Given the description of an element on the screen output the (x, y) to click on. 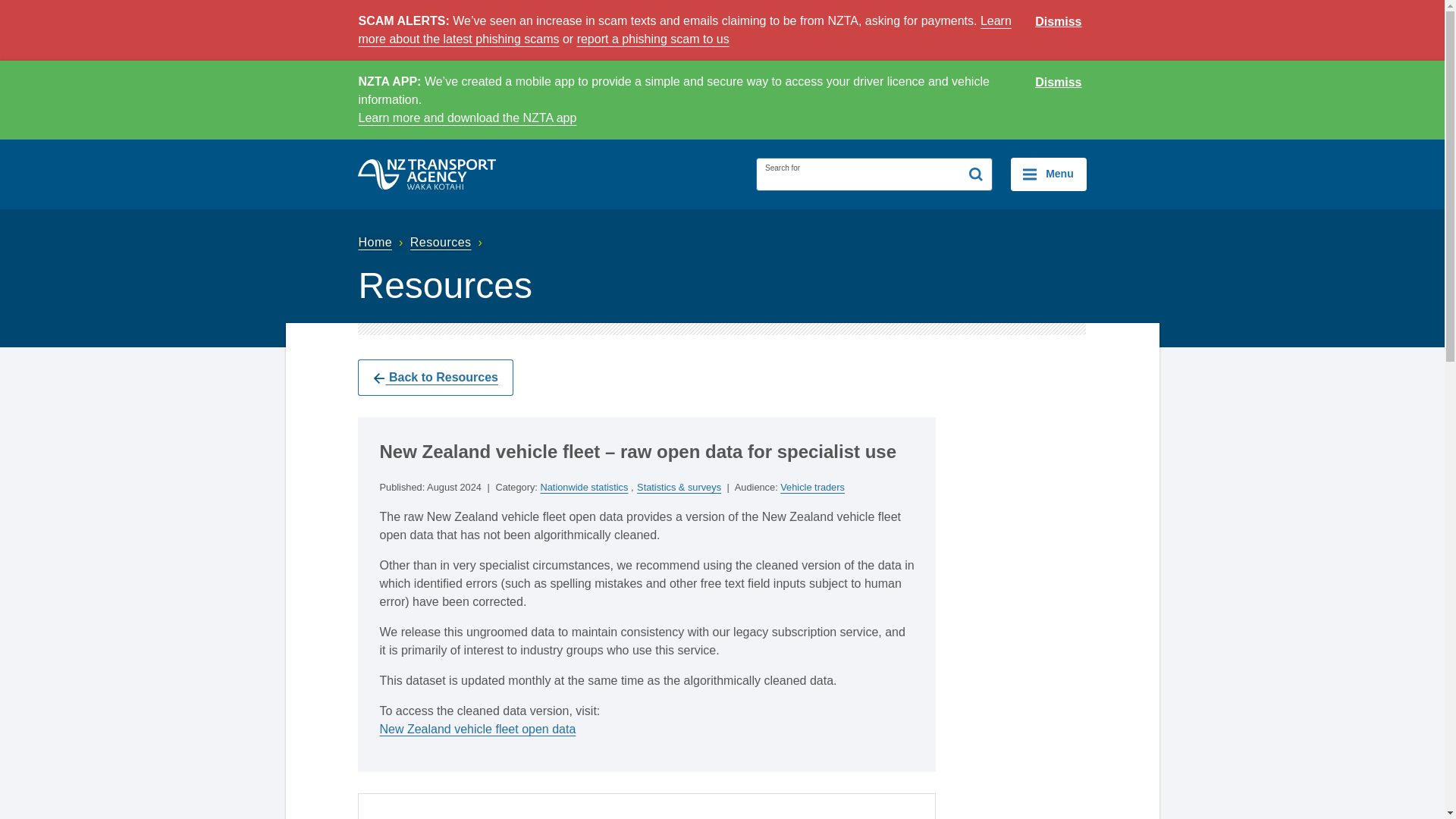
Dismiss (1058, 82)
Menu (1048, 174)
Learn more and download the NZTA app (467, 117)
Dismiss (1058, 21)
report a phishing scam to us (652, 38)
NZ Transport Agency Waka Kotahi (427, 173)
Learn more about the latest phishing scams (684, 29)
Home (382, 241)
